Given the description of an element on the screen output the (x, y) to click on. 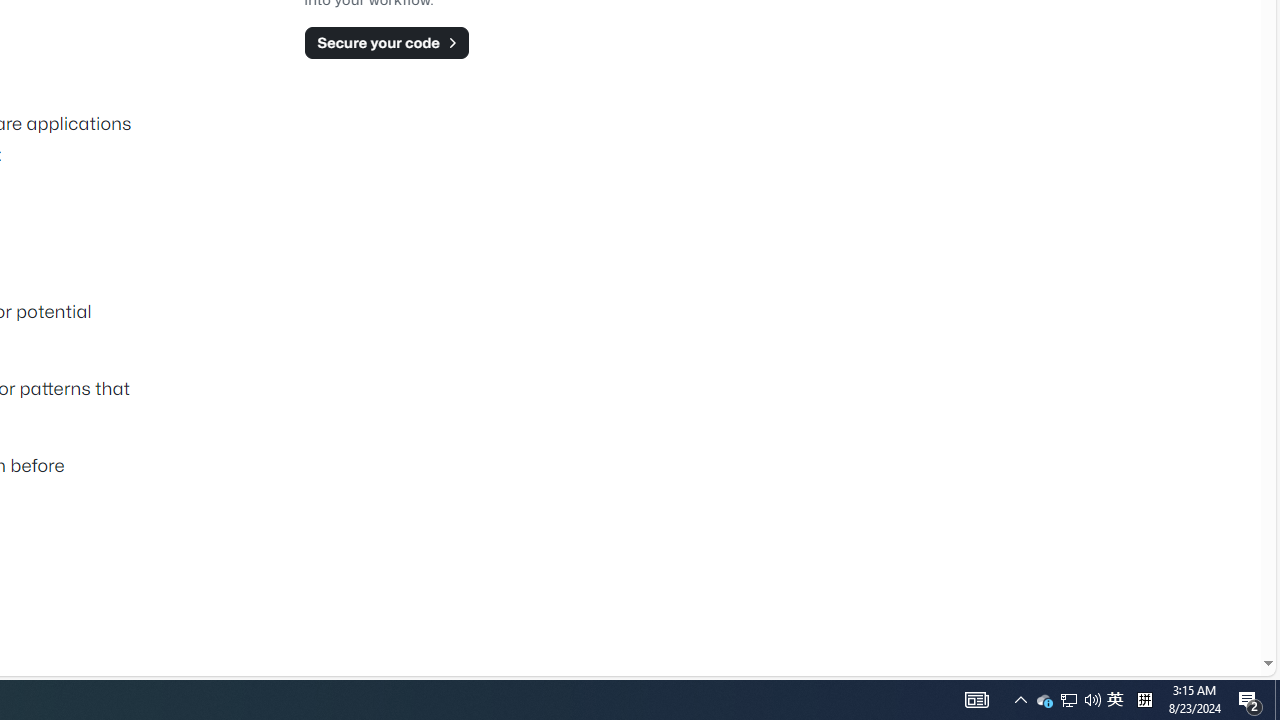
Secure your code (386, 42)
